Given the description of an element on the screen output the (x, y) to click on. 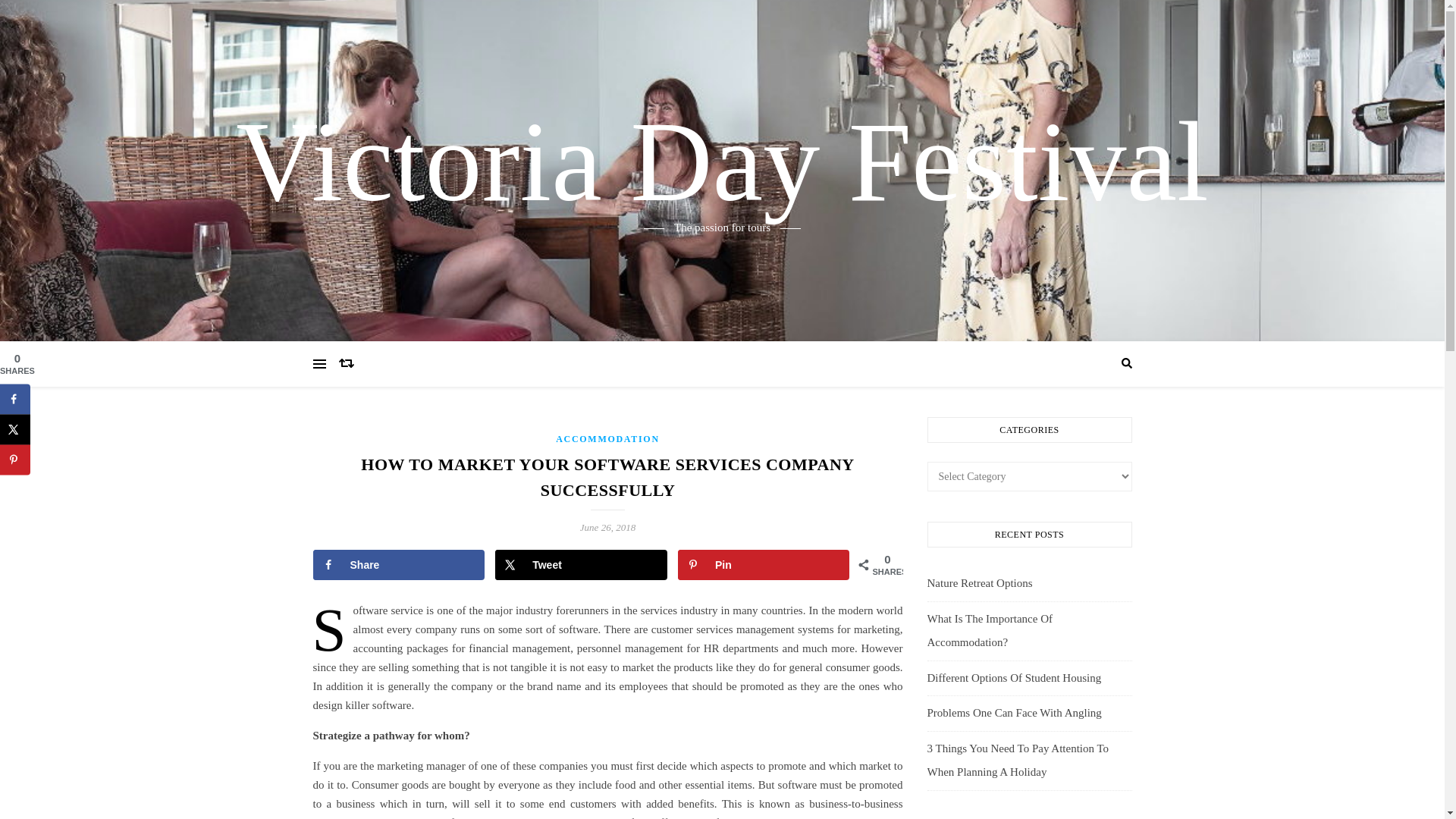
Tweet (580, 564)
Share on X (15, 429)
Share on Facebook (15, 399)
Share (398, 564)
Pin (764, 564)
Nature Retreat Options (979, 582)
What Is The Importance Of Accommodation? (989, 630)
ACCOMMODATION (607, 439)
Different Options Of Student Housing (1013, 677)
